Given the description of an element on the screen output the (x, y) to click on. 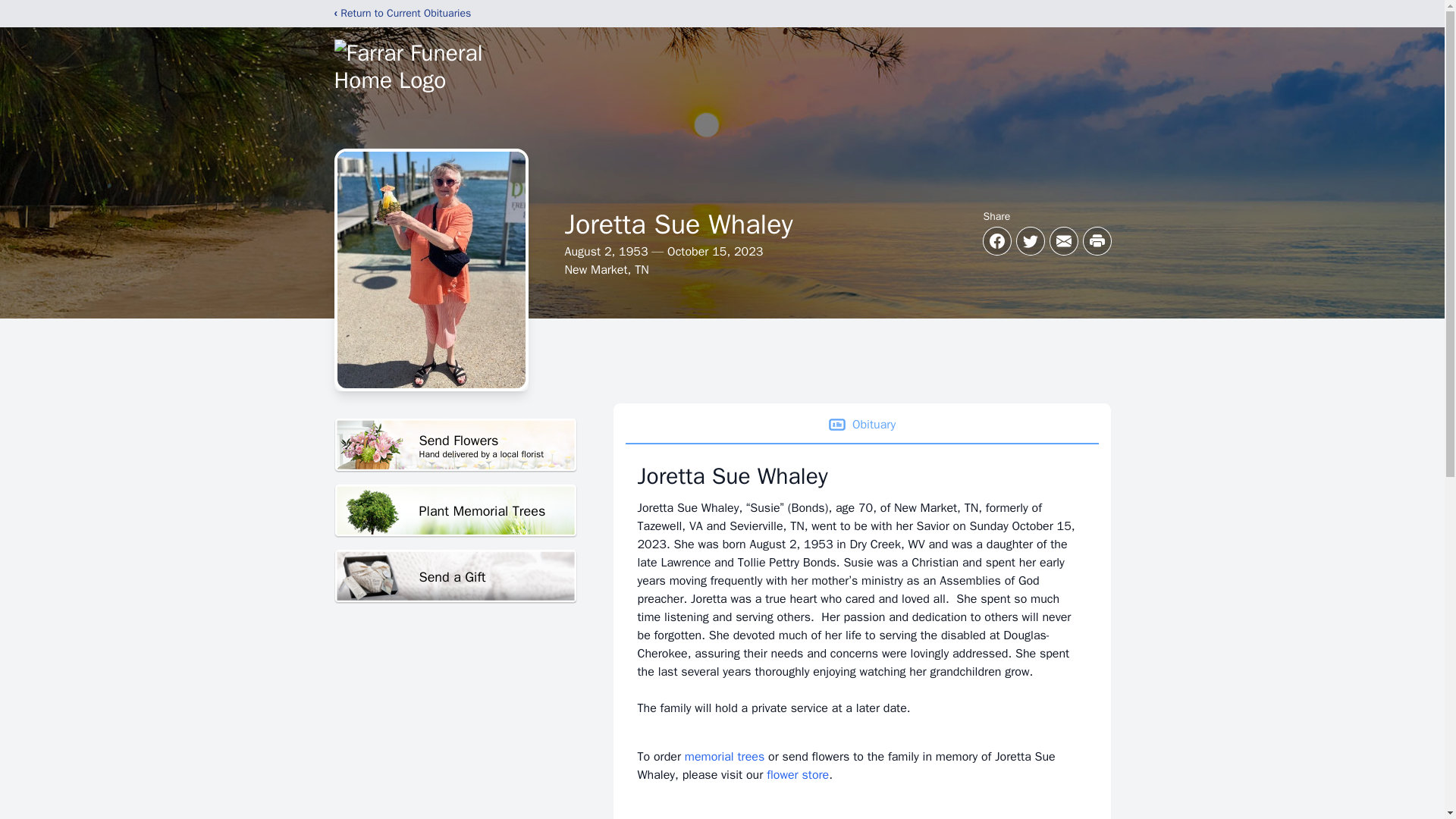
memorial trees (724, 756)
Send a Gift (454, 576)
Obituary (860, 425)
Plant Memorial Trees (454, 511)
flower store (797, 774)
